Given the description of an element on the screen output the (x, y) to click on. 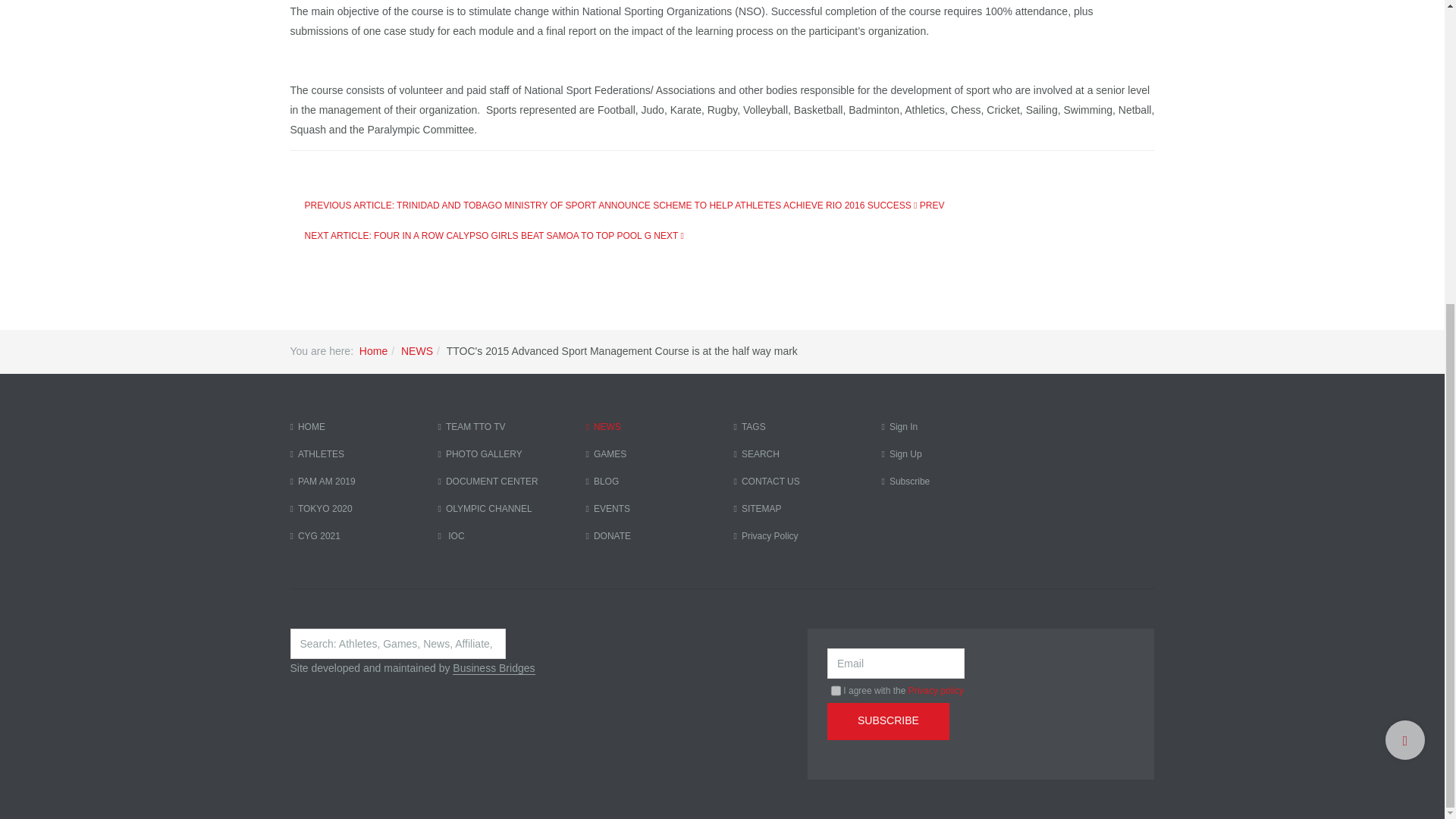
Business Bridges (493, 667)
Terms and conditions (836, 690)
Back to Top (1405, 264)
Subscribe (888, 721)
on (836, 690)
